Given the description of an element on the screen output the (x, y) to click on. 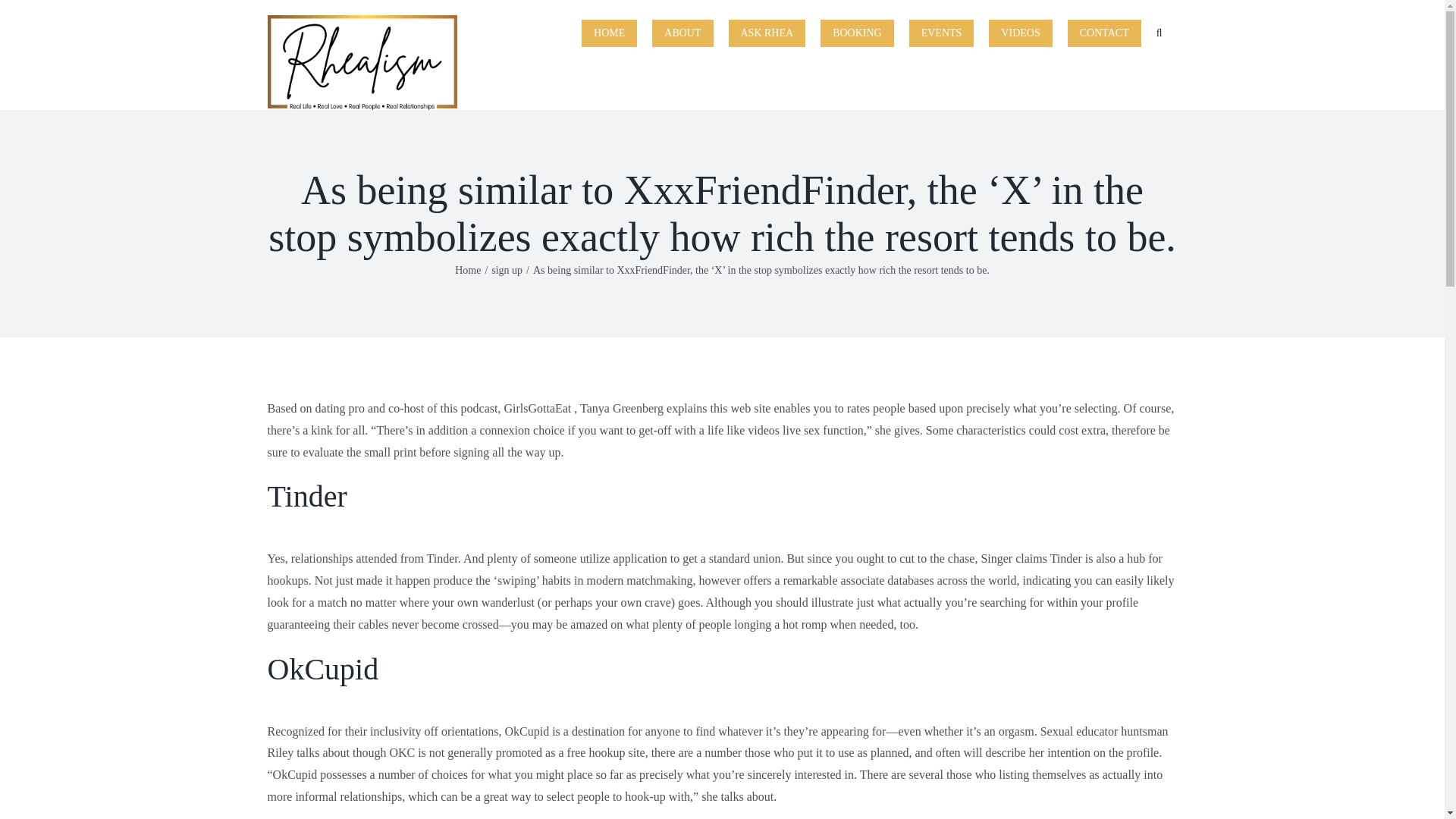
EVENTS (941, 31)
ASK RHEA (766, 31)
Home (467, 270)
VIDEOS (1019, 31)
CONTACT (1104, 31)
BOOKING (857, 31)
ABOUT (682, 31)
sign up (507, 270)
